Given the description of an element on the screen output the (x, y) to click on. 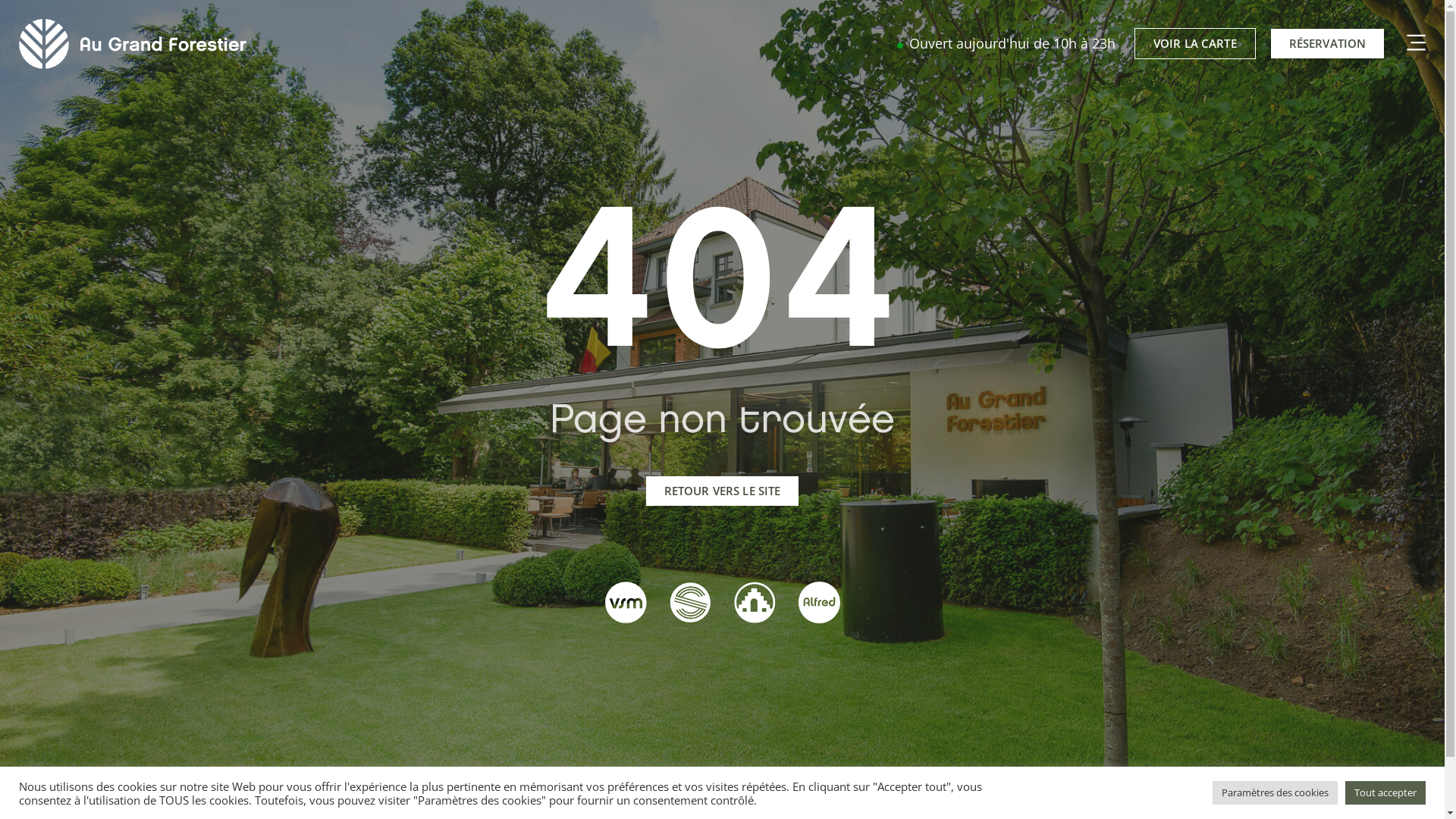
COMBINED SHAPE Element type: text (1412, 43)
RETOUR VERS LE SITE Element type: text (722, 490)
VOIR LA CARTE Element type: text (1194, 43)
Tout accepter Element type: text (1385, 792)
